Given the description of an element on the screen output the (x, y) to click on. 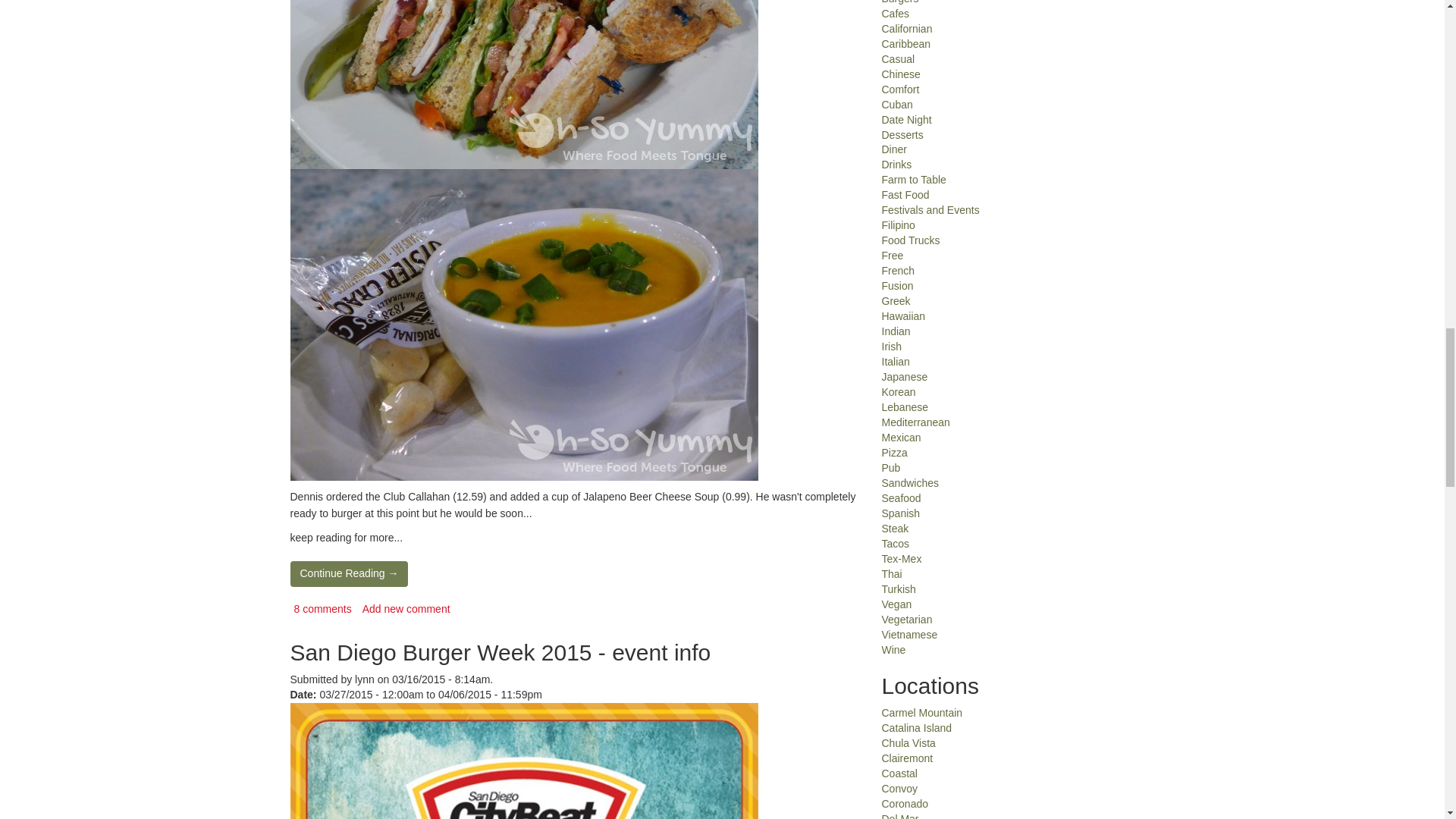
Jump to the first comment of this posting. (323, 608)
Add new comment (405, 608)
8 comments (323, 608)
San Diego Burger Week 2015 (523, 760)
San Diego Burger Week 2015 - event info (499, 652)
San Diego Burger Week 2015 (574, 760)
Add a new comment to this page. (405, 608)
